Given the description of an element on the screen output the (x, y) to click on. 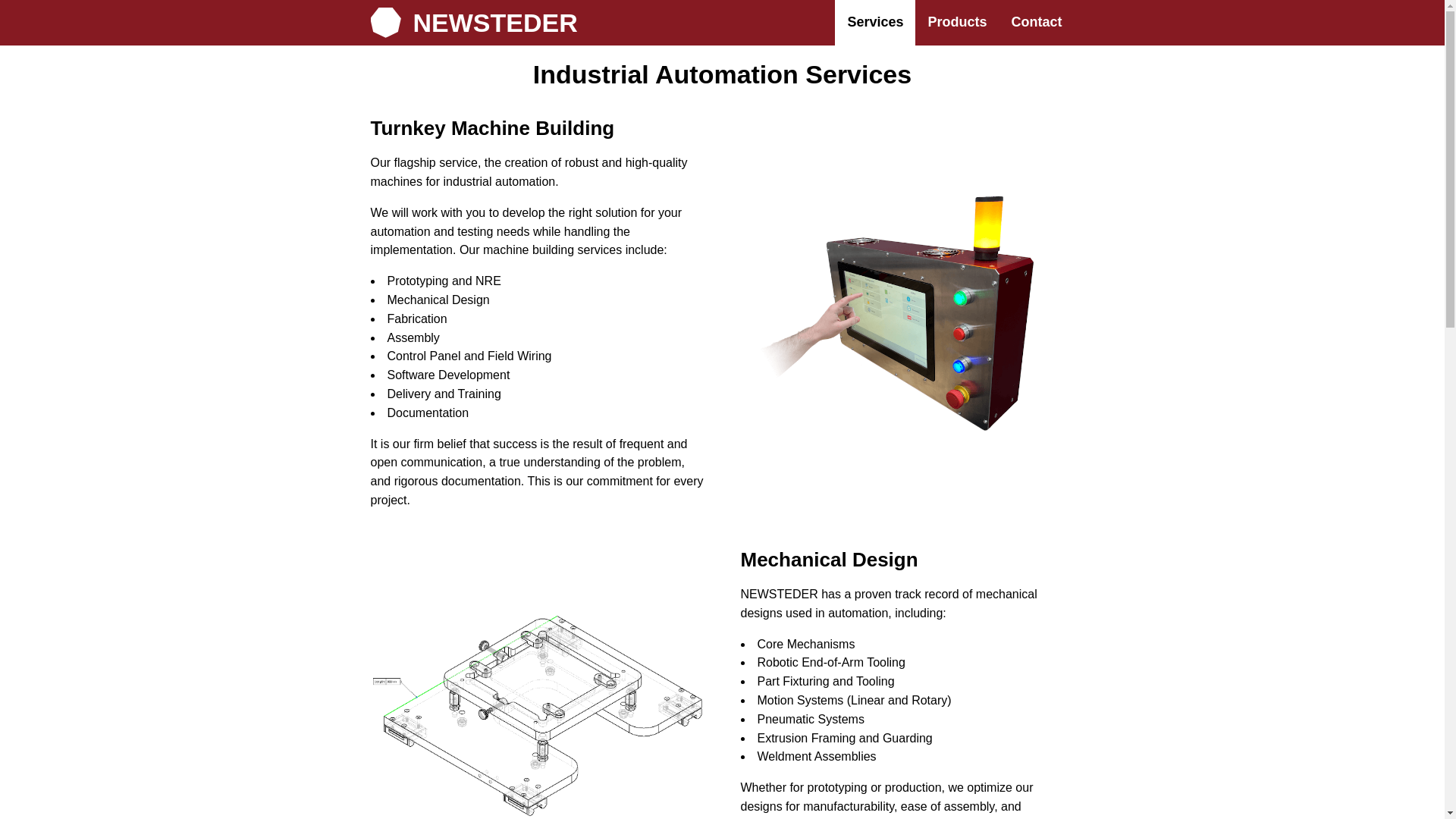
Products (956, 22)
Contact (1036, 22)
NEWSTEDER (472, 22)
Services (874, 22)
